Given the description of an element on the screen output the (x, y) to click on. 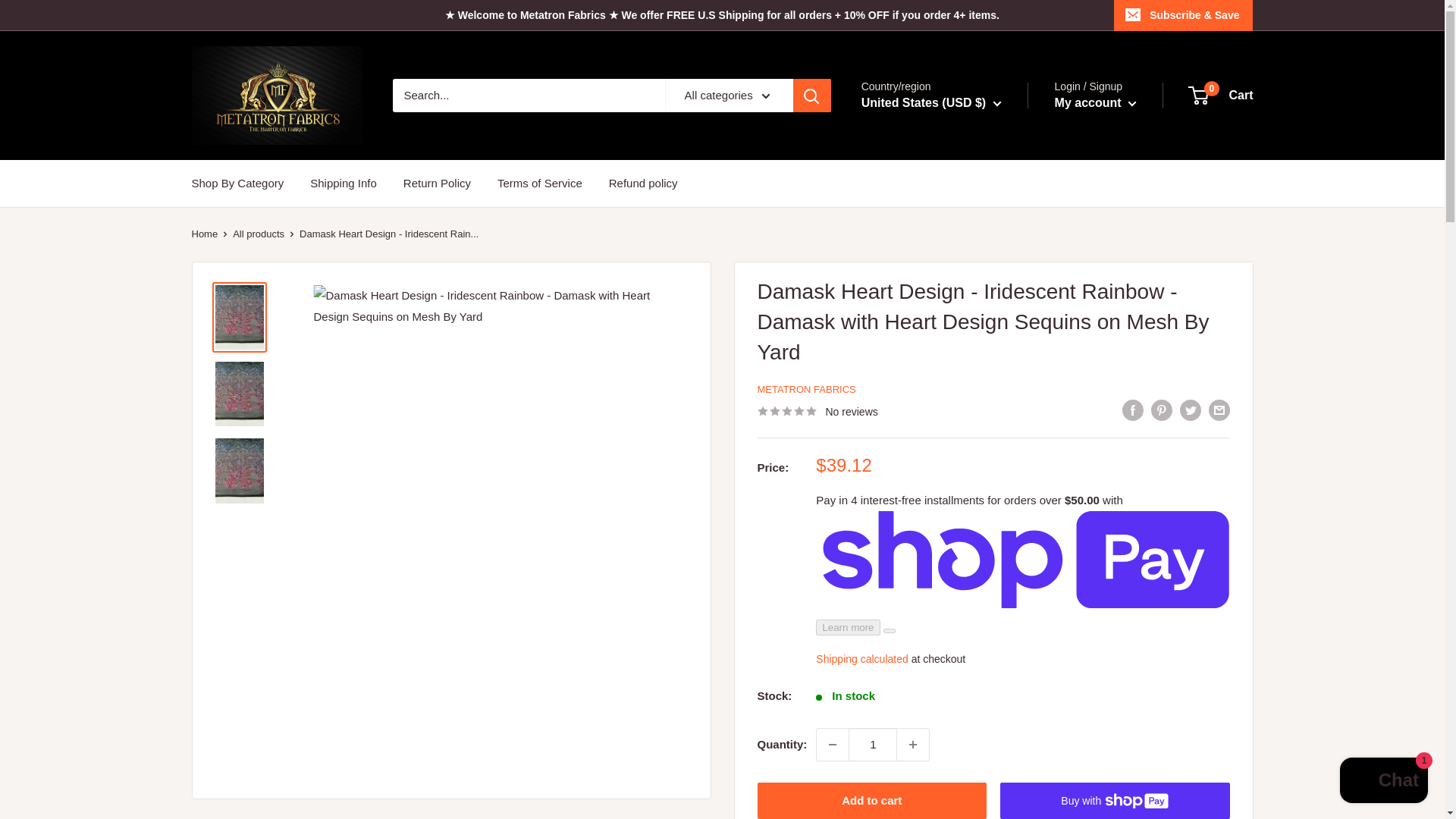
Shopify online store chat (1383, 781)
KH (907, 326)
CN (907, 370)
AU (907, 174)
Decrease quantity by 1 (832, 744)
BN (907, 305)
CC (907, 414)
AF (907, 152)
1 (872, 744)
DE (907, 479)
CO (907, 436)
CX (907, 392)
CA (907, 348)
IO (907, 283)
BT (907, 261)
